Given the description of an element on the screen output the (x, y) to click on. 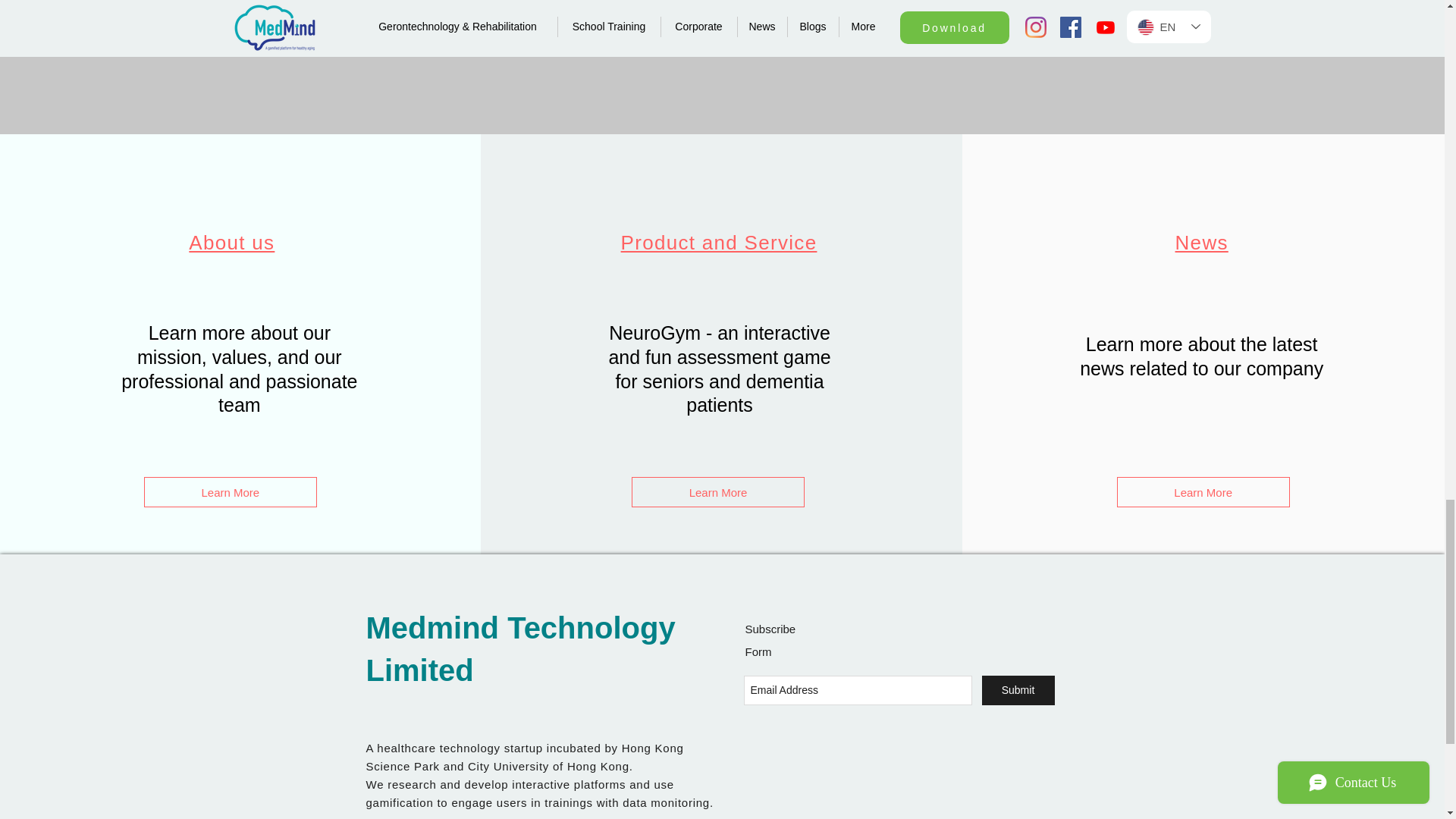
Google Maps (898, 779)
